Given the description of an element on the screen output the (x, y) to click on. 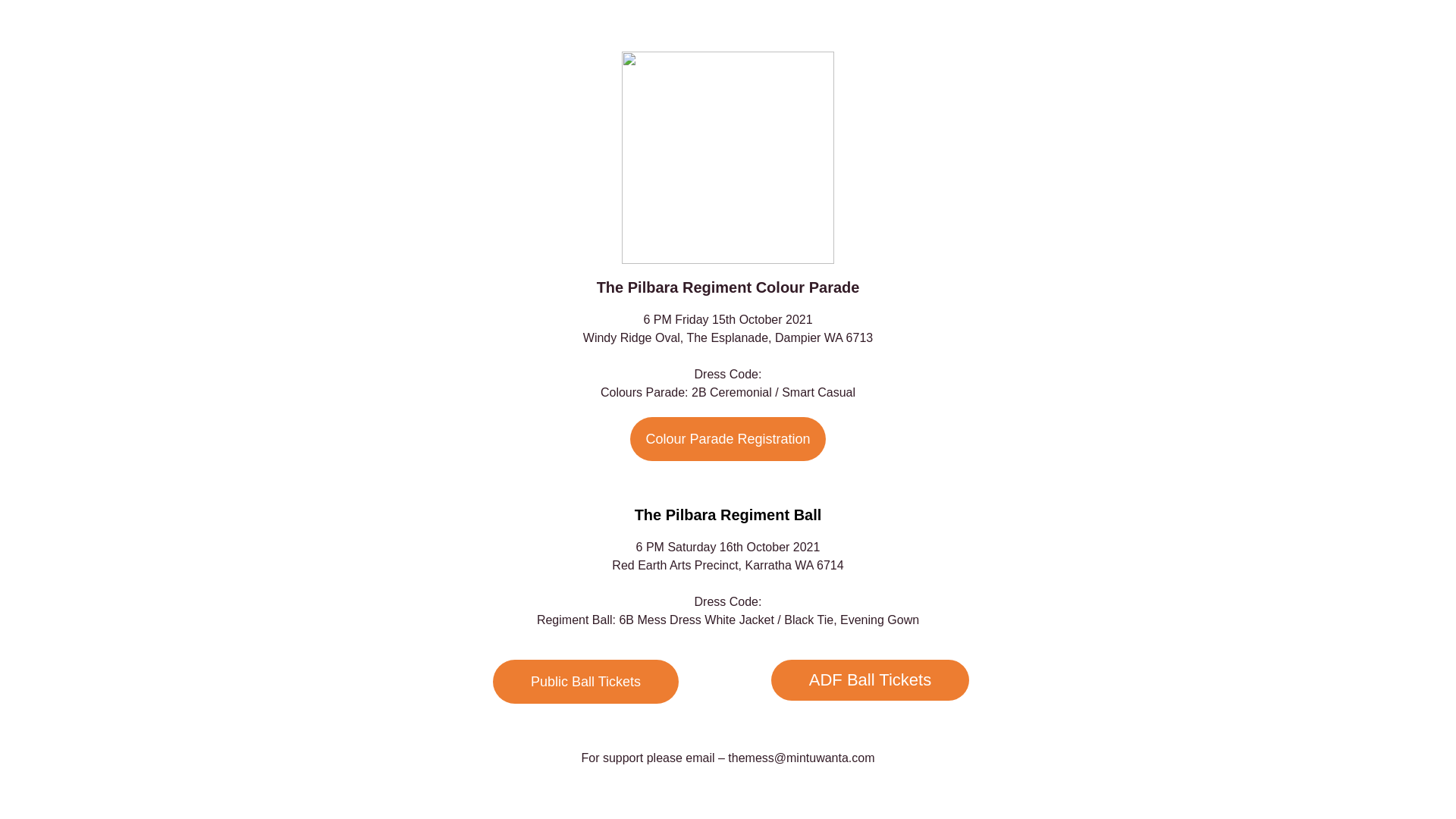
Public Ball Tickets Element type: text (585, 681)
ADF Ball Tickets Element type: text (870, 679)
Colour Parade Registration Element type: text (727, 439)
